Given the description of an element on the screen output the (x, y) to click on. 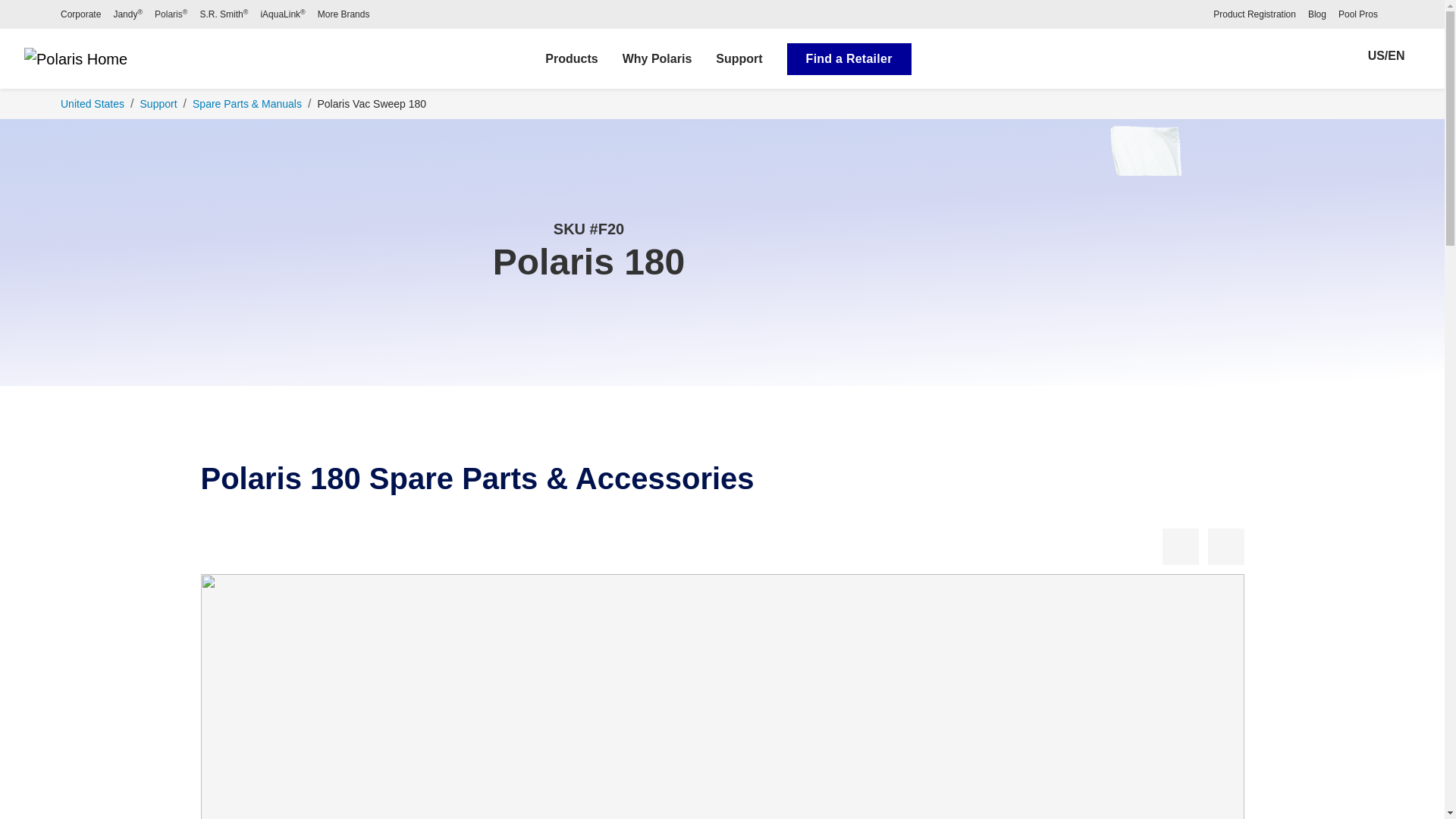
Products (571, 58)
Product Registration (1254, 14)
Corporate (80, 14)
More Brands (343, 14)
Blog (1316, 14)
Pool Pros (1358, 14)
